Given the description of an element on the screen output the (x, y) to click on. 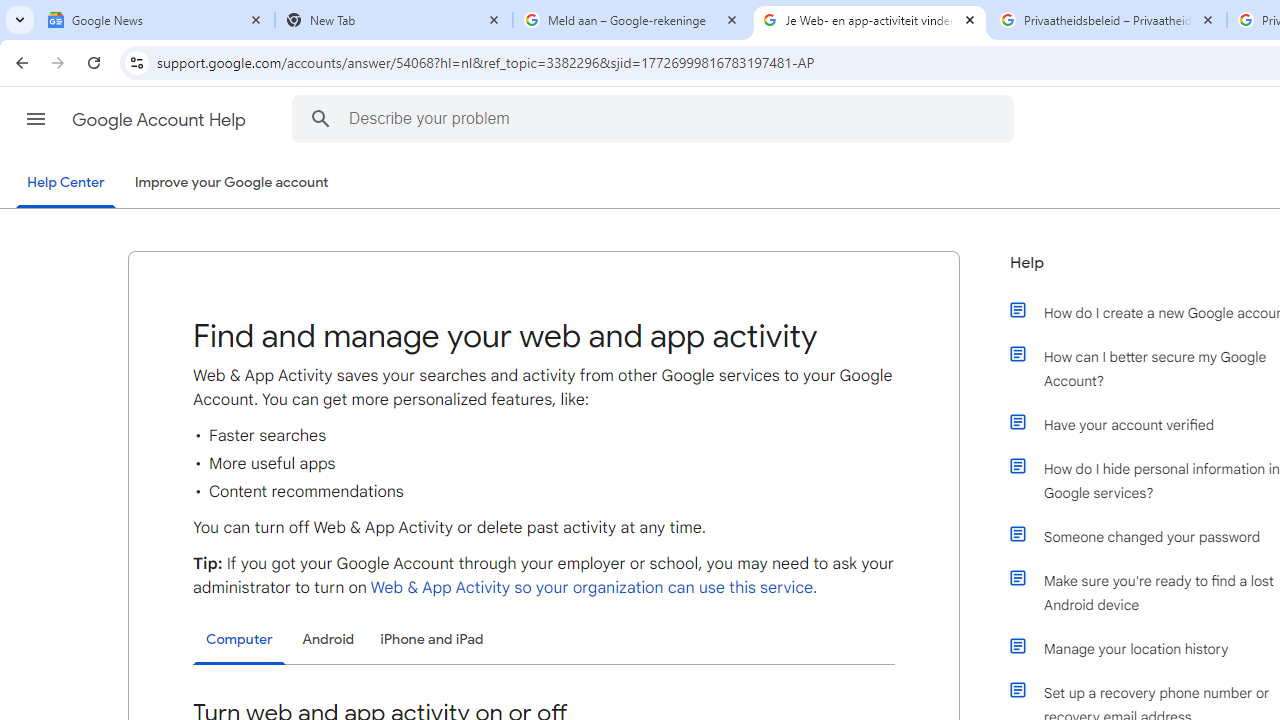
Search the Help Center (320, 118)
Google Account Help (160, 119)
Computer (239, 640)
iPhone and iPad (431, 639)
